Given the description of an element on the screen output the (x, y) to click on. 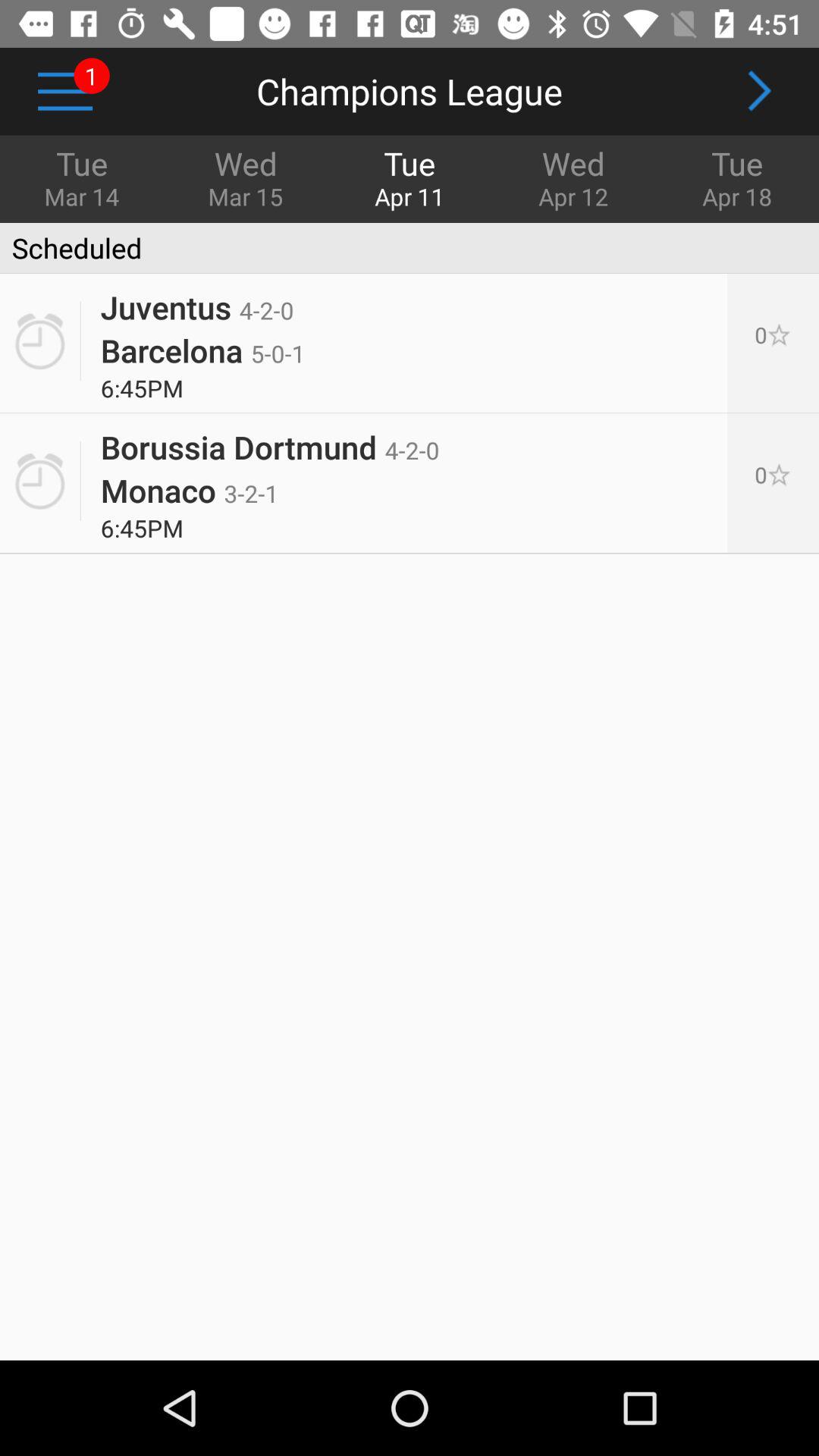
open icon to the left of the 0[p] icon (202, 349)
